Given the description of an element on the screen output the (x, y) to click on. 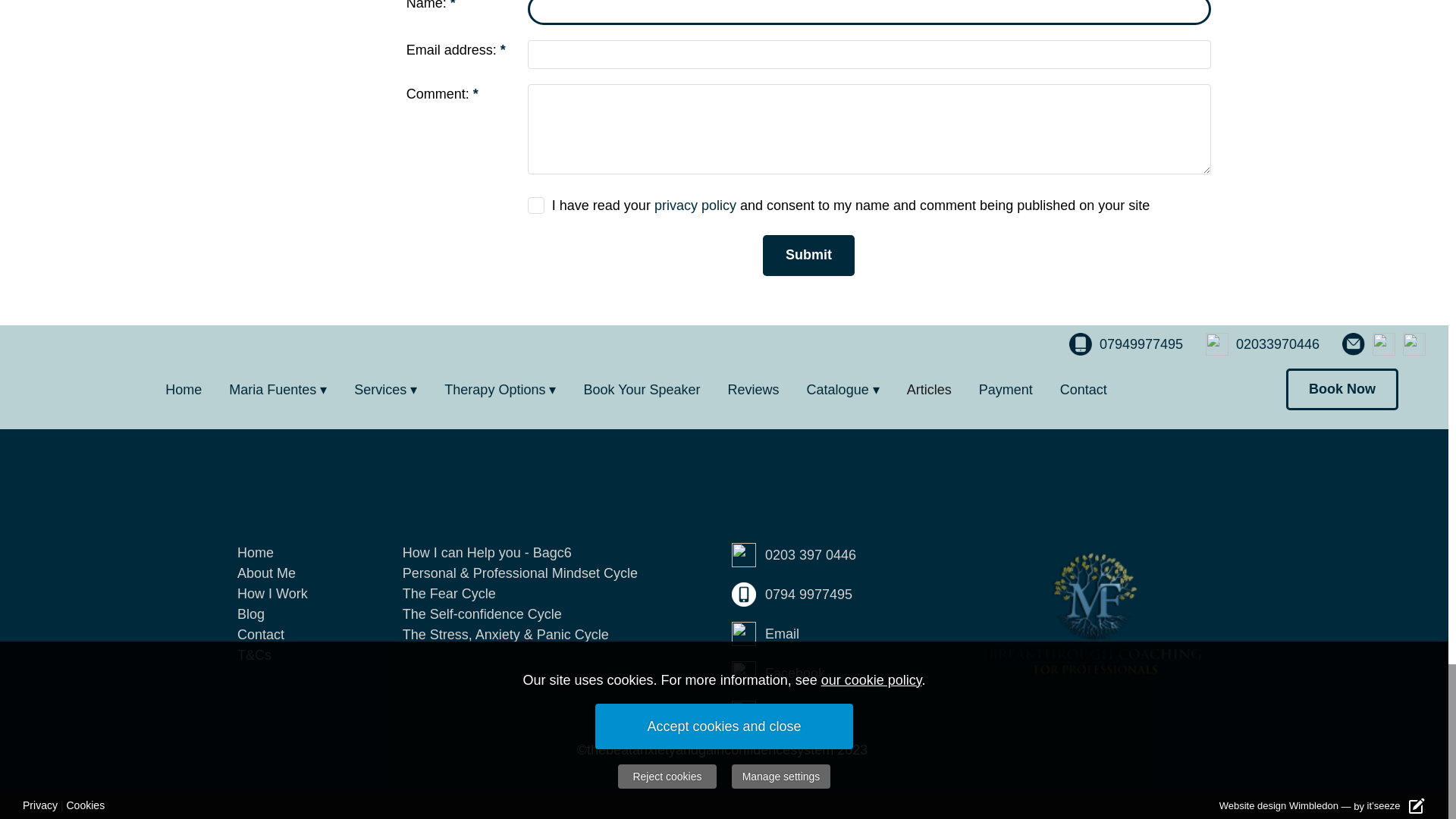
privacy policy (694, 205)
Submit (808, 255)
